Given the description of an element on the screen output the (x, y) to click on. 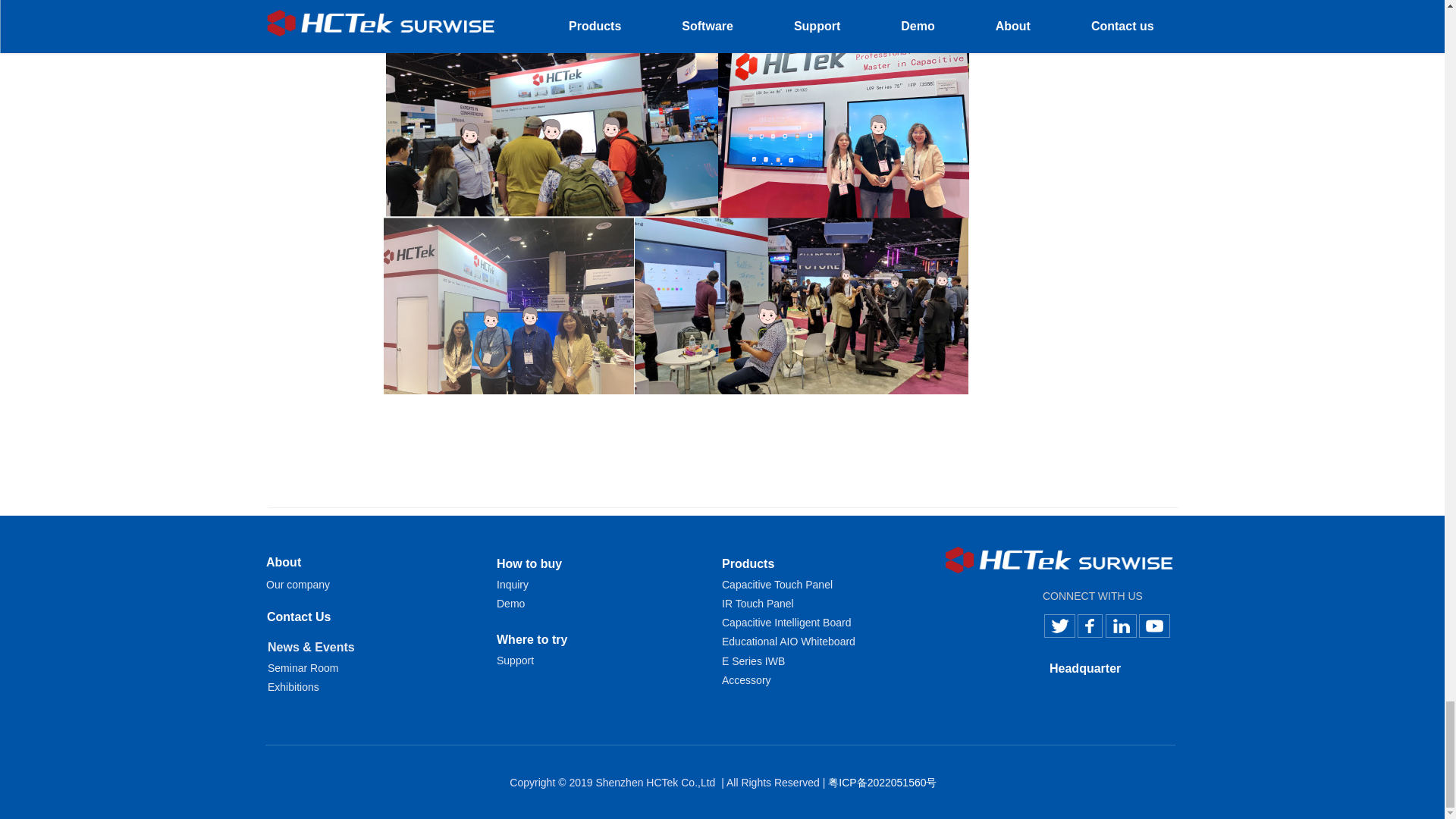
Demo (510, 603)
Accessory (746, 680)
Educational AIO Whiteboard (789, 641)
Inquiry (512, 584)
Capacitive Touch Panel  (778, 584)
Exhibitions (292, 686)
Seminar Room (302, 667)
Shenzhen Donview Electronic Technology Co., Ltd  (1059, 560)
E Series IWB (753, 661)
Contact Us (298, 617)
Capacitive Intelligent Board (786, 622)
IR Touch Panel (757, 603)
Headquarter (1085, 667)
